Given the description of an element on the screen output the (x, y) to click on. 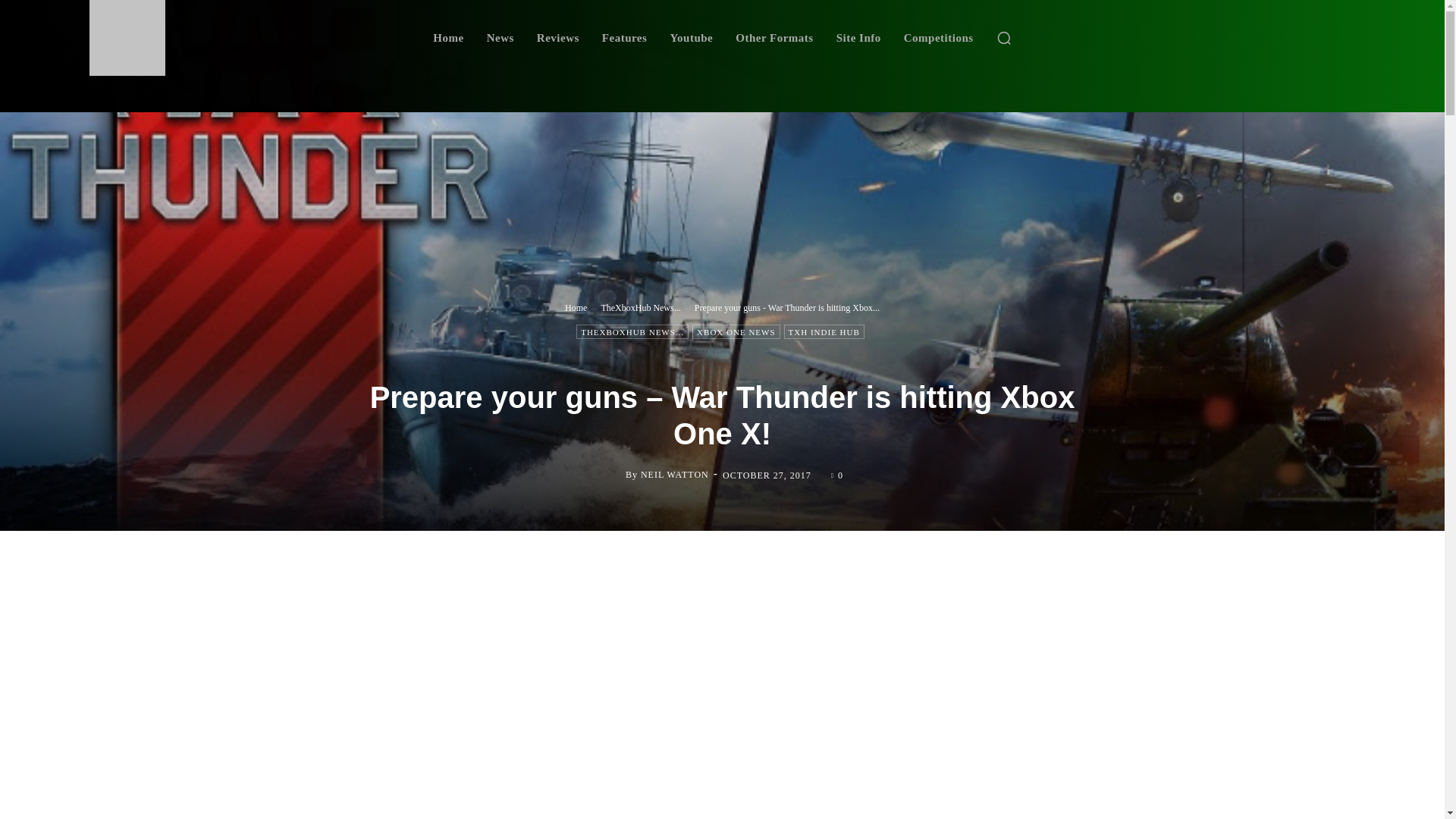
Neil Watton (613, 474)
View all posts in TheXboxHub News... (639, 307)
